Given the description of an element on the screen output the (x, y) to click on. 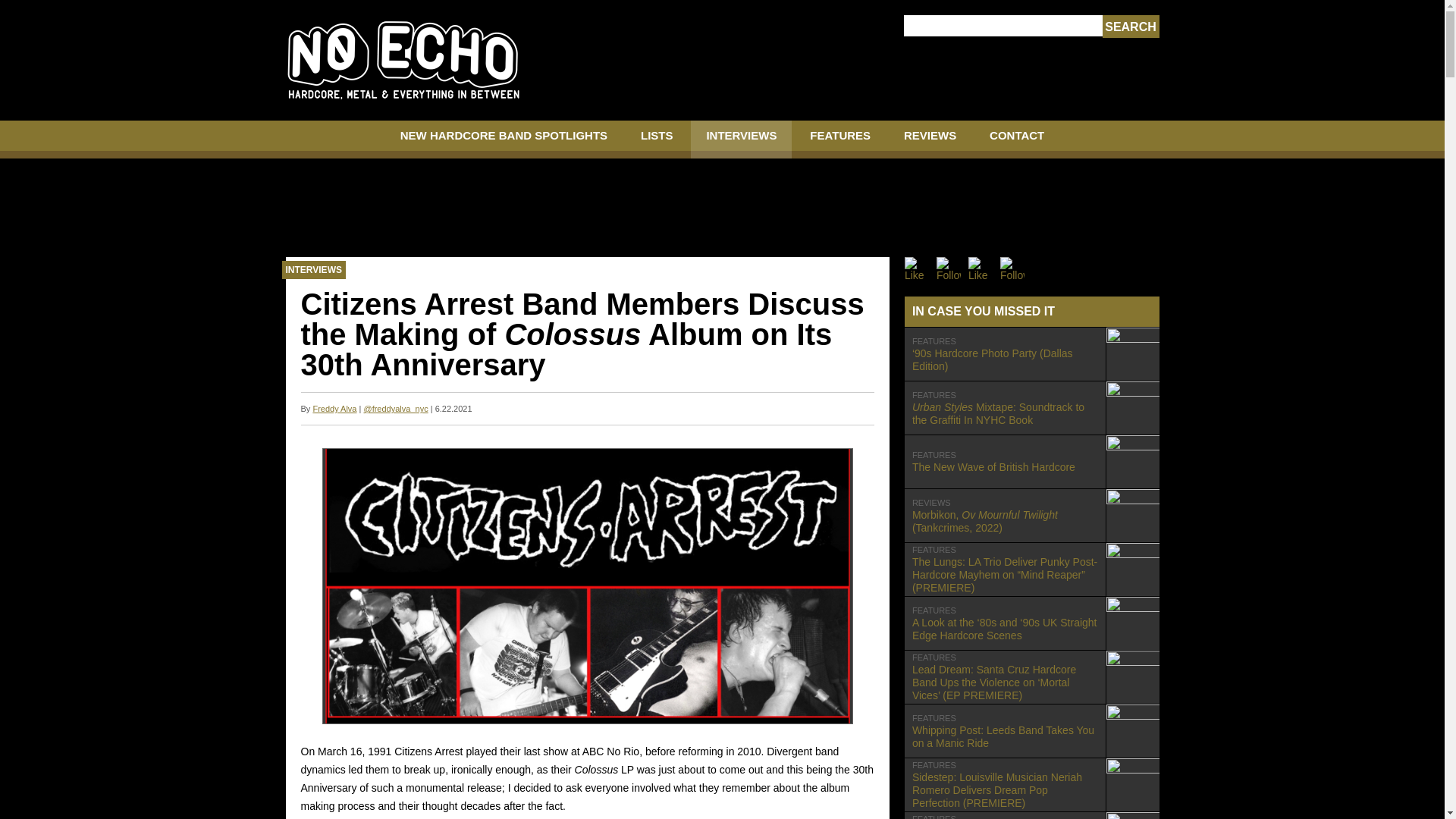
FEATURES (839, 139)
Search (1130, 26)
NEW HARDCORE BAND SPOTLIGHTS (1031, 730)
CONTACT (504, 139)
Search (1016, 139)
INTERVIEWS (1031, 461)
LISTS (1130, 26)
REVIEWS (741, 139)
